Given the description of an element on the screen output the (x, y) to click on. 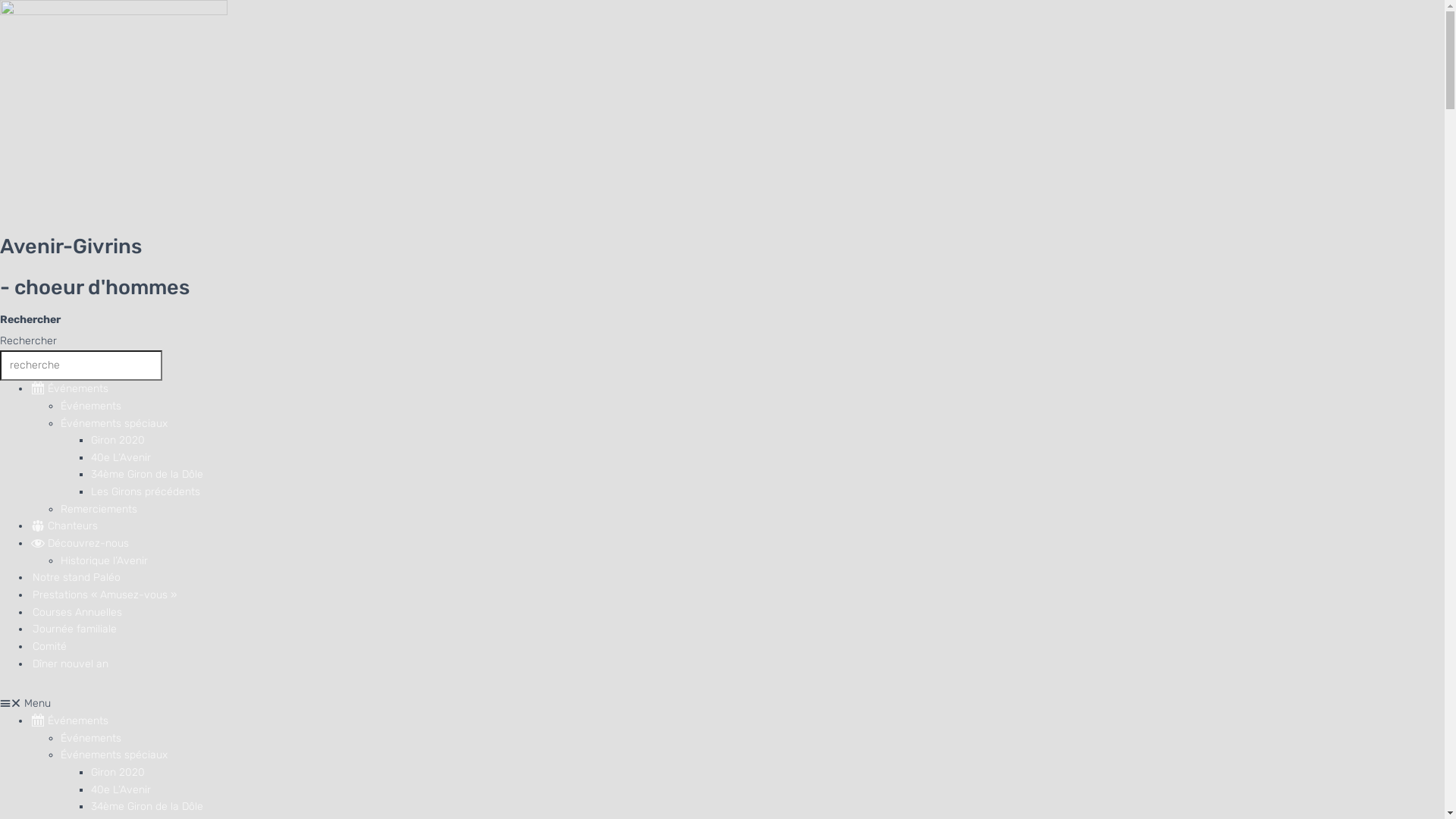
Remerciements Element type: text (98, 508)
Giron 2020 Element type: text (117, 771)
Chanteurs Element type: text (63, 525)
Courses Annuelles Element type: text (76, 611)
Giron 2020 Element type: text (117, 439)
